Given the description of an element on the screen output the (x, y) to click on. 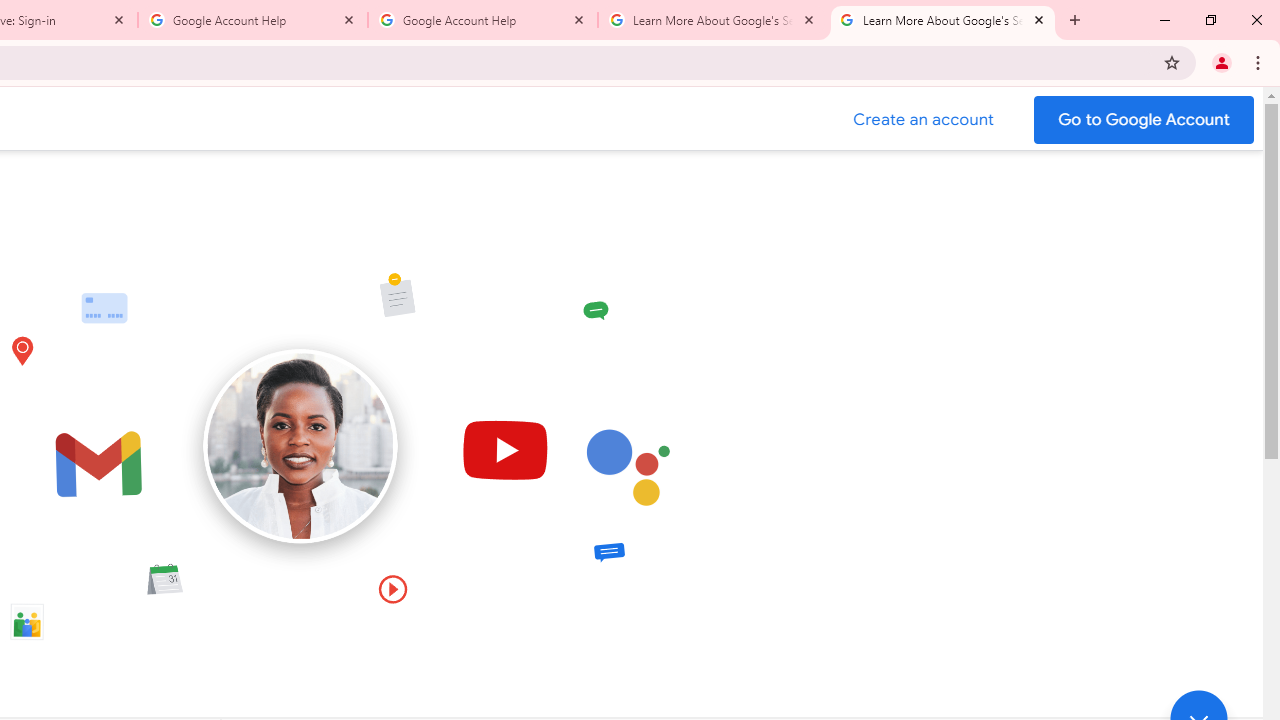
Google Account Help (253, 20)
Google Account Help (482, 20)
Create a Google Account (923, 119)
Go to your Google Account (1144, 119)
